Given the description of an element on the screen output the (x, y) to click on. 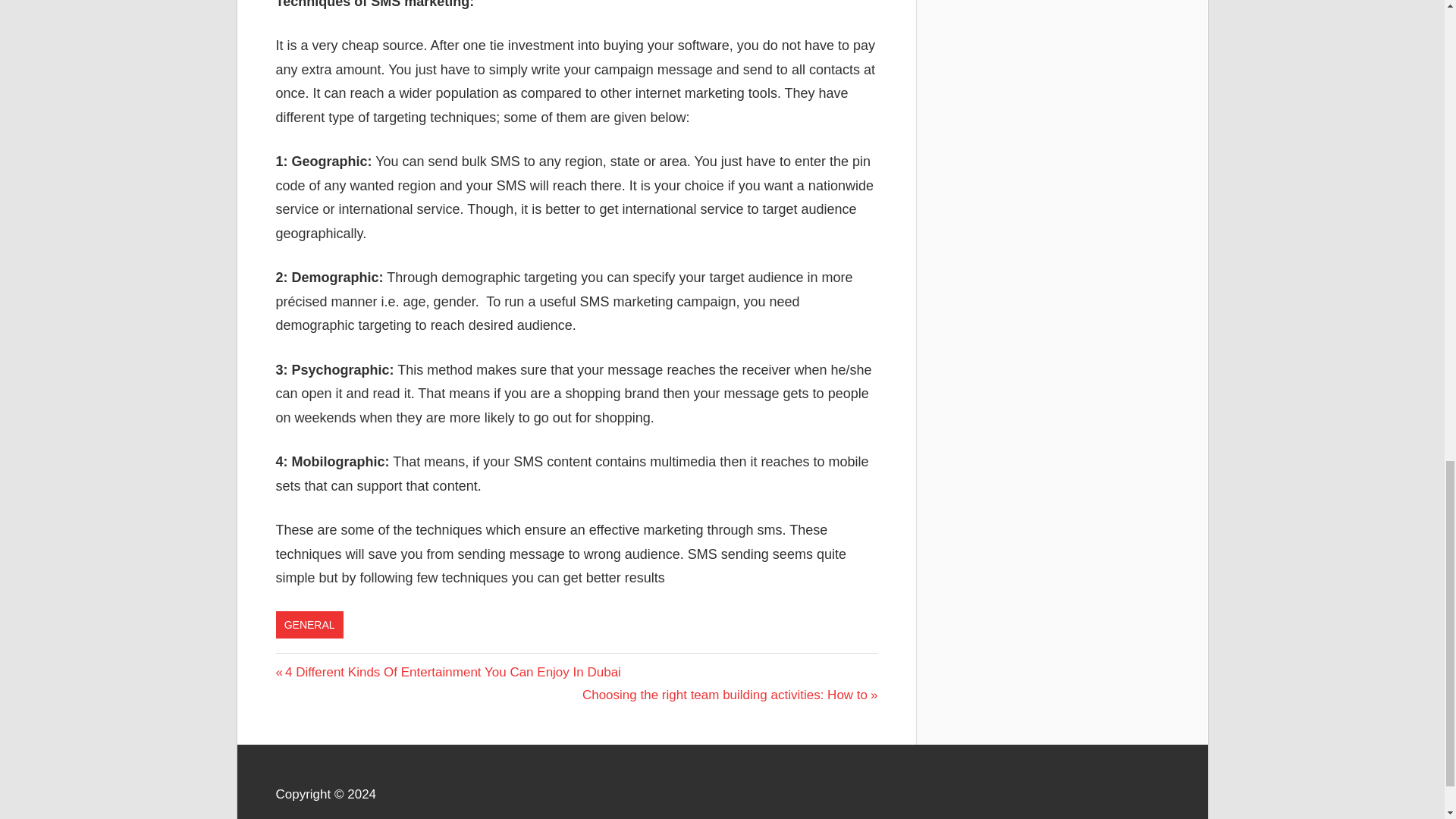
GENERAL (309, 624)
